Given the description of an element on the screen output the (x, y) to click on. 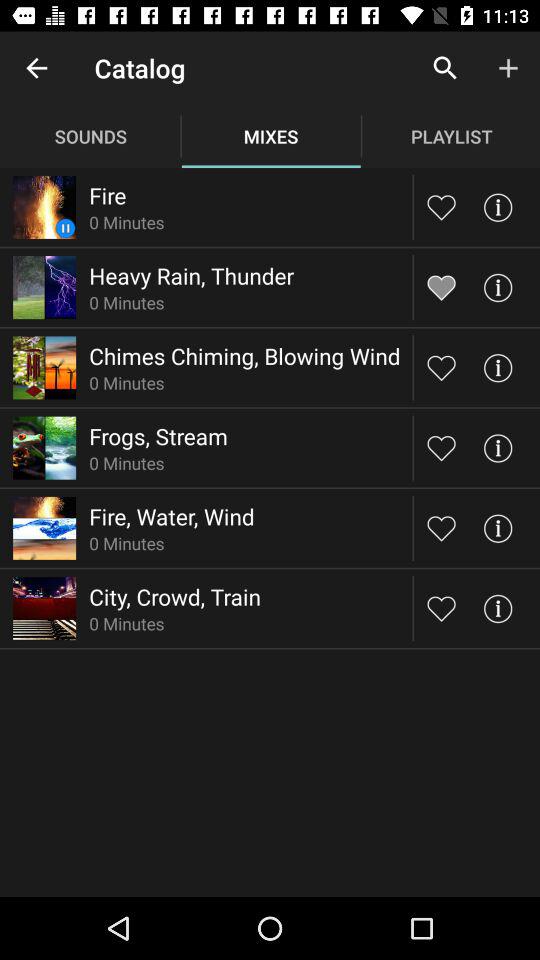
launch icon above playlist icon (508, 67)
